Given the description of an element on the screen output the (x, y) to click on. 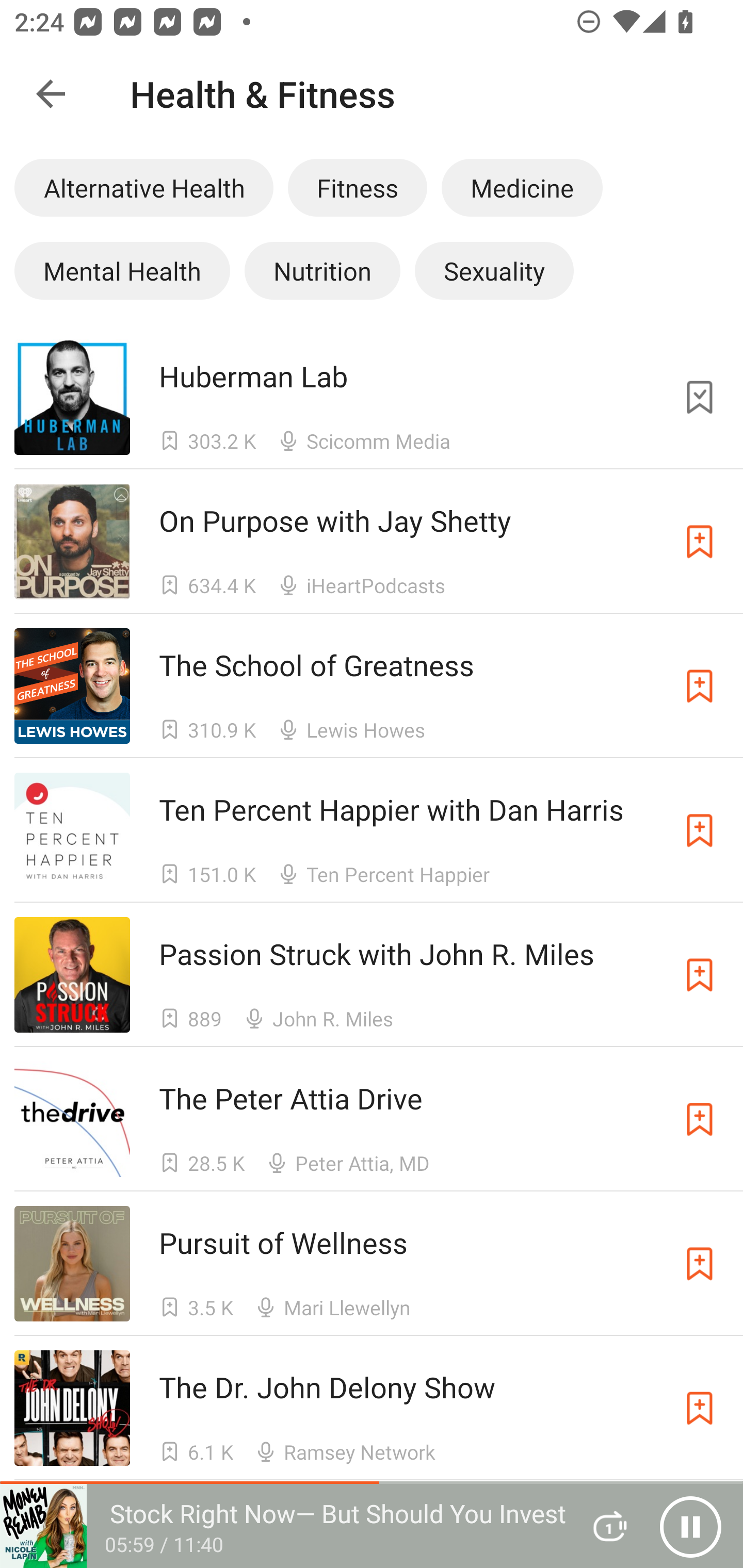
Navigate up (50, 93)
Alternative Health (143, 187)
Fitness (357, 187)
Medicine (521, 187)
Mental Health (122, 270)
Nutrition (322, 270)
Sexuality (493, 270)
Unsubscribe (699, 396)
Subscribe (699, 541)
Subscribe (699, 685)
Subscribe (699, 830)
Subscribe (699, 975)
Subscribe (699, 1119)
Subscribe (699, 1263)
Subscribe (699, 1408)
Pause (690, 1526)
